Given the description of an element on the screen output the (x, y) to click on. 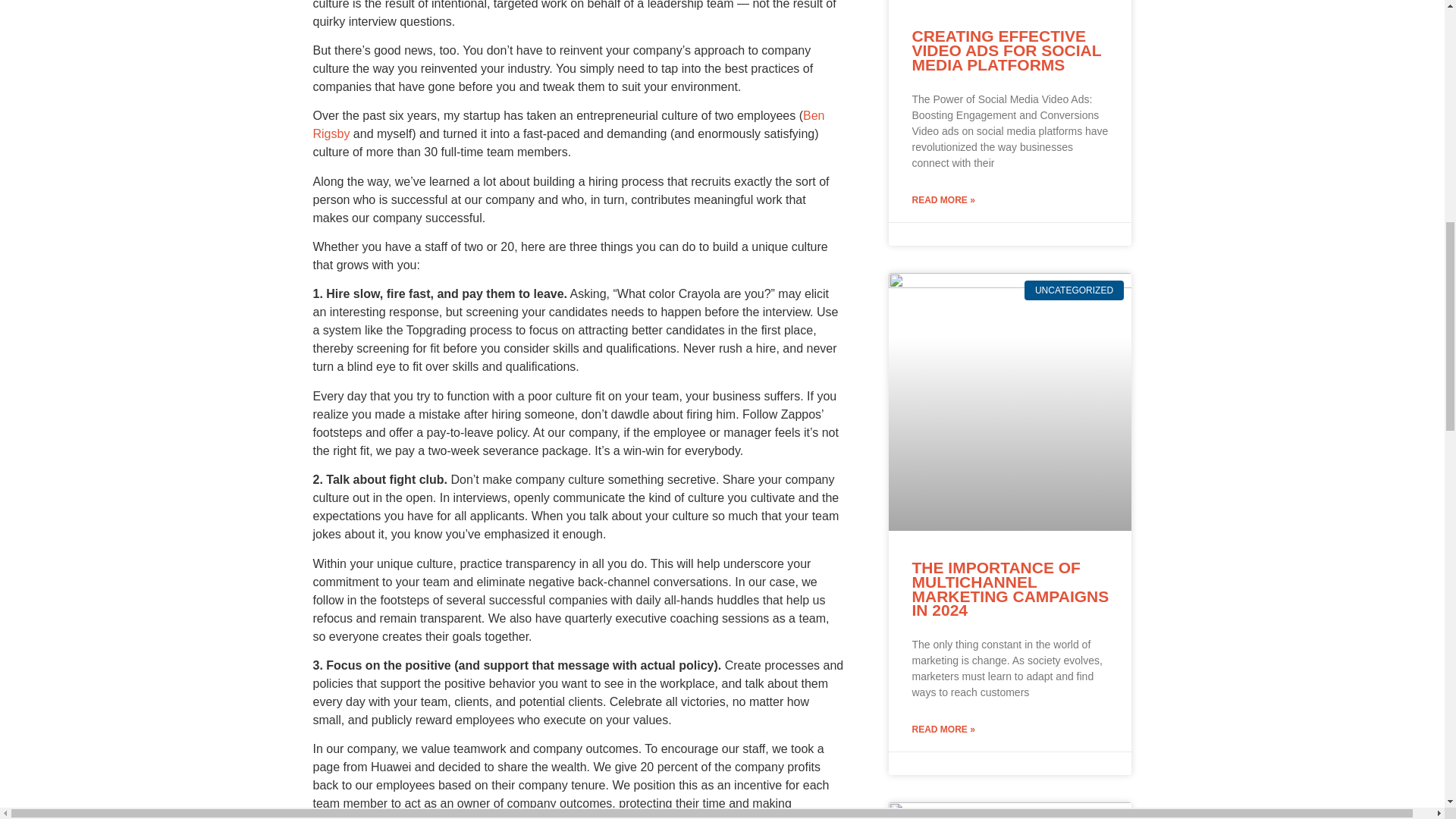
CREATING EFFECTIVE VIDEO ADS FOR SOCIAL MEDIA PLATFORMS (1005, 50)
Ben Rigsby (568, 124)
THE IMPORTANCE OF MULTICHANNEL MARKETING CAMPAIGNS IN 2024  (1009, 588)
